Given the description of an element on the screen output the (x, y) to click on. 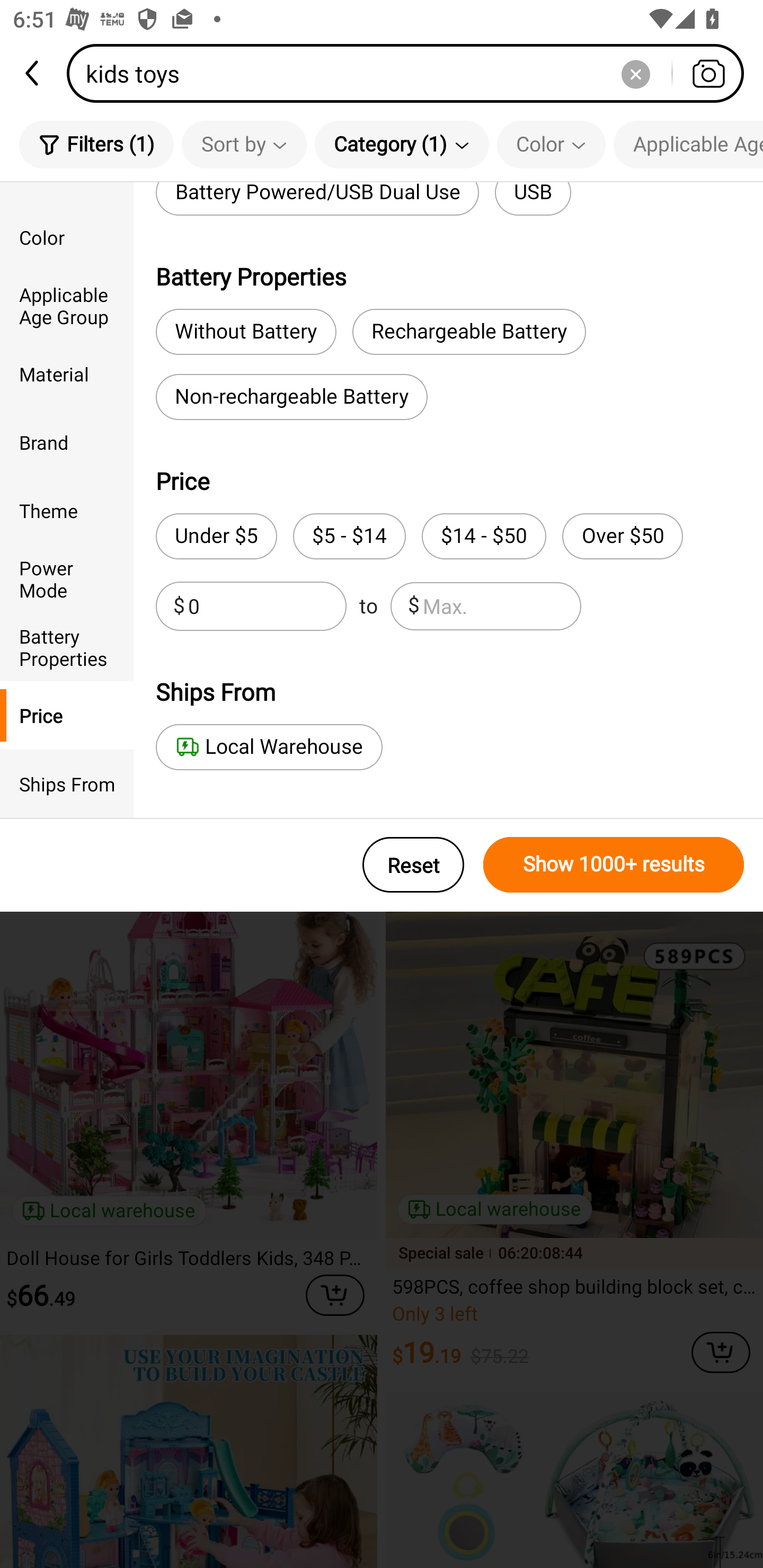
back (33, 72)
kids toys (411, 73)
Delete search history (635, 73)
Search by photo (708, 73)
Filters (1) (96, 143)
Sort by (243, 143)
Category (1) (401, 143)
Color (550, 143)
Applicable Age Group (688, 143)
Battery Powered/USB Dual Use (317, 198)
USB (533, 198)
Color (66, 236)
Applicable Age Group (66, 305)
Without Battery (245, 331)
Rechargeable Battery (468, 331)
Material (66, 373)
Non-rechargeable Battery (291, 397)
Brand (66, 441)
Theme (66, 510)
Under $5 (215, 535)
$5 - $14 (348, 535)
$14 - $50 (483, 535)
Over $50 (622, 535)
Power Mode (66, 578)
$ 0 to $ Max. (368, 605)
Battery Properties (66, 646)
Price (66, 714)
Local Warehouse (268, 746)
Ships From (66, 783)
Reset (412, 864)
Show 1000+ results (612, 864)
